Given the description of an element on the screen output the (x, y) to click on. 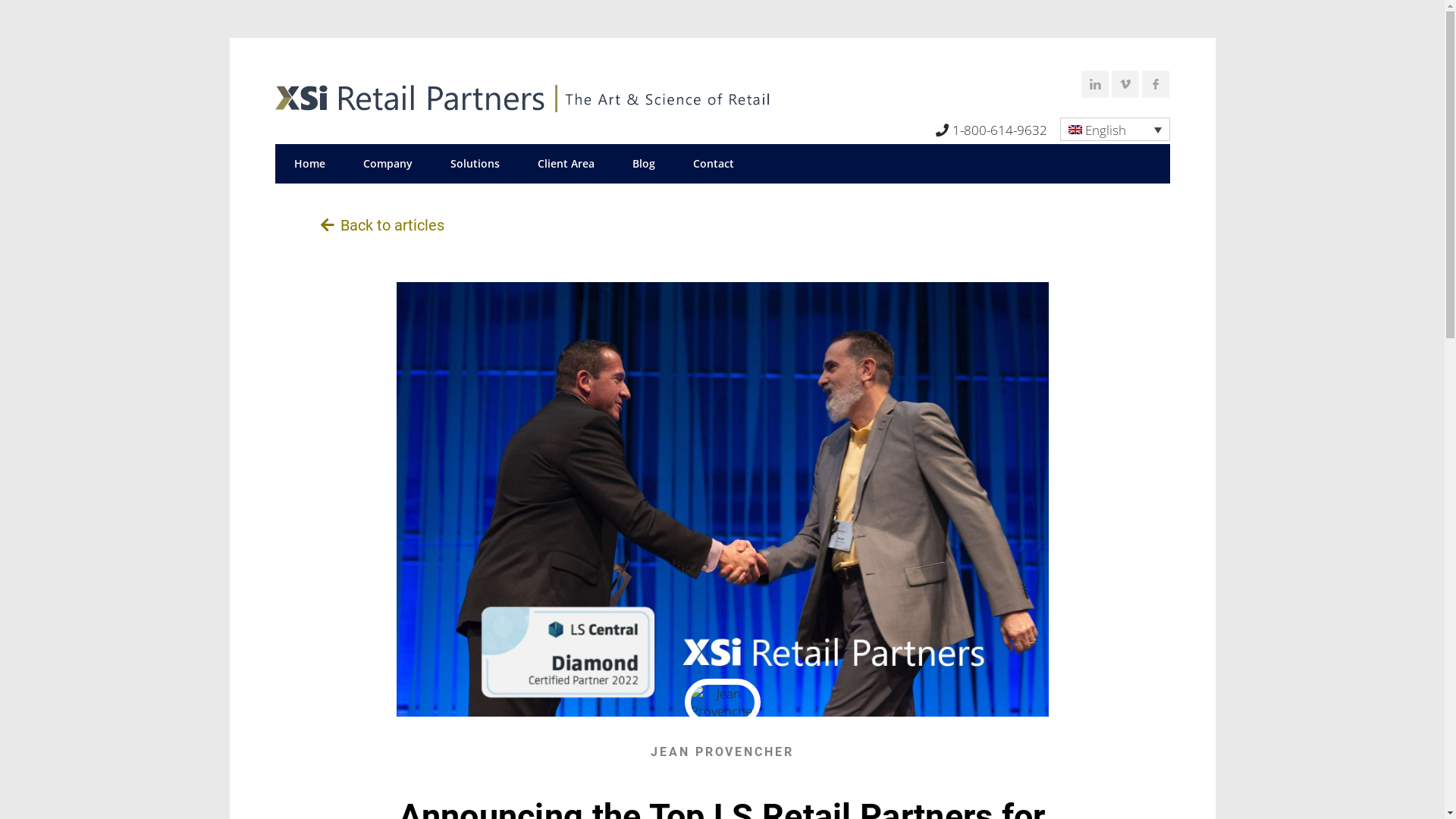
Facebook Element type: hover (1157, 86)
LinkedIn Element type: hover (1097, 86)
Client Area Element type: text (565, 163)
Solutions Element type: text (473, 163)
Company Element type: text (387, 163)
Contact Element type: text (712, 163)
Home Element type: text (308, 163)
Blog Element type: text (642, 163)
English Element type: text (1115, 129)
Vimeo Element type: hover (1127, 86)
Back to articles Element type: text (381, 225)
